Given the description of an element on the screen output the (x, y) to click on. 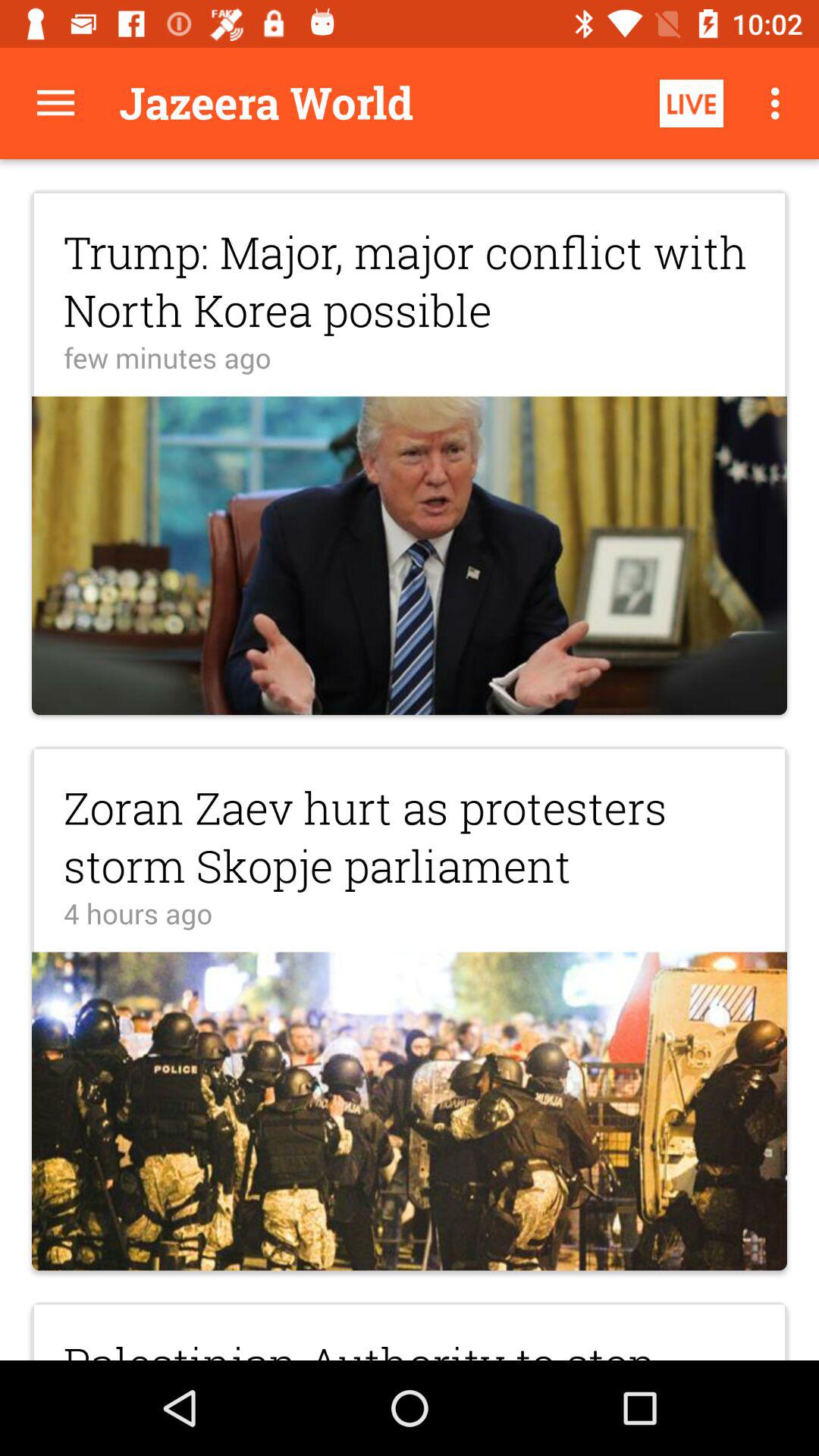
tap the icon to the right of jazeera world icon (691, 103)
